Given the description of an element on the screen output the (x, y) to click on. 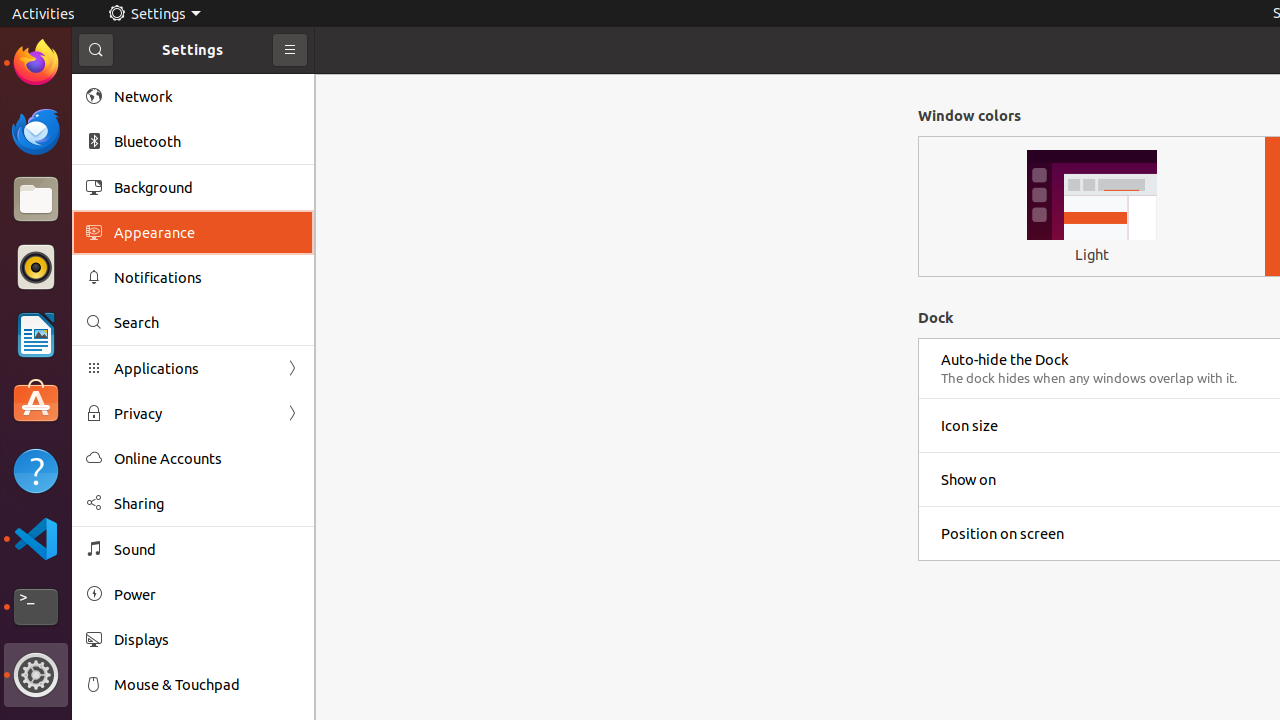
Search Element type: label (207, 322)
Icon size Element type: label (969, 425)
